Given the description of an element on the screen output the (x, y) to click on. 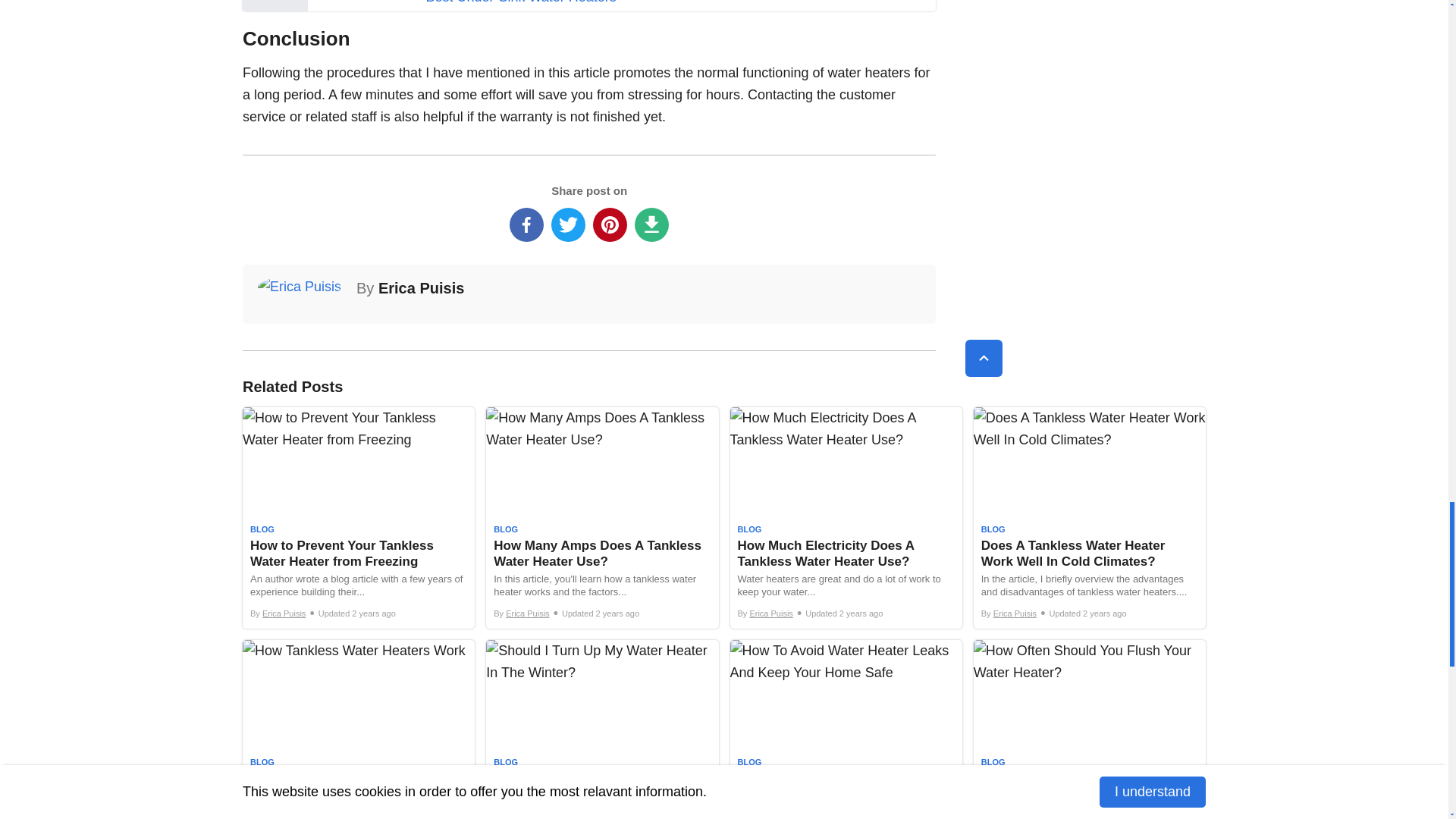
Erica Puisis (421, 288)
Download as PDF (651, 224)
Share on Facebook (526, 224)
Share on Twitter (568, 224)
Share on Pinterest (609, 224)
Best Under-Sink Water Heaters (520, 2)
